Given the description of an element on the screen output the (x, y) to click on. 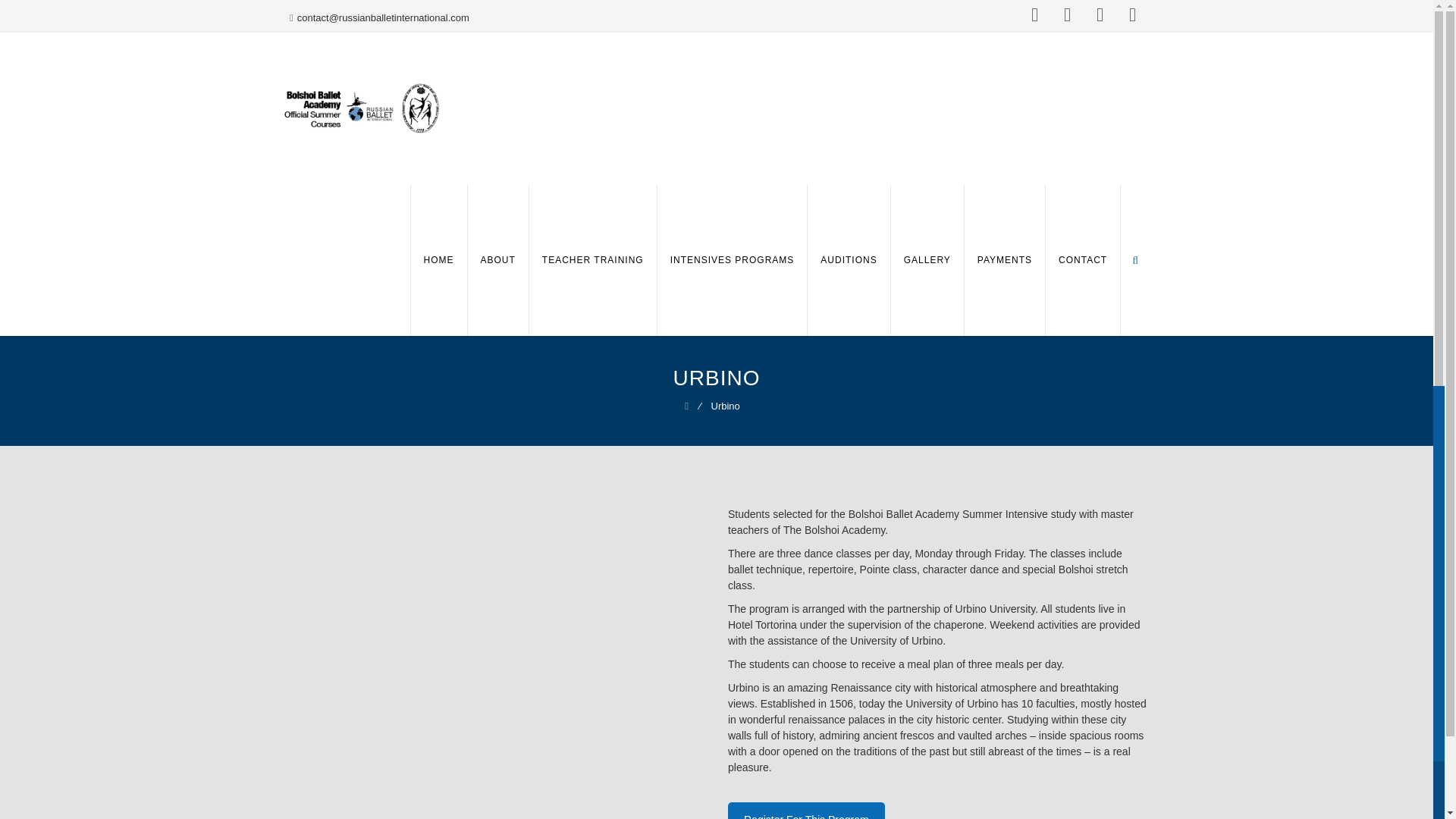
INTENSIVES PROGRAMS (733, 259)
RSS (613, 479)
YouTube (1035, 14)
Russian Ballet International (364, 108)
YouTube (525, 479)
Facebook (555, 479)
Facebook (1067, 14)
Instagram (584, 479)
